Given the description of an element on the screen output the (x, y) to click on. 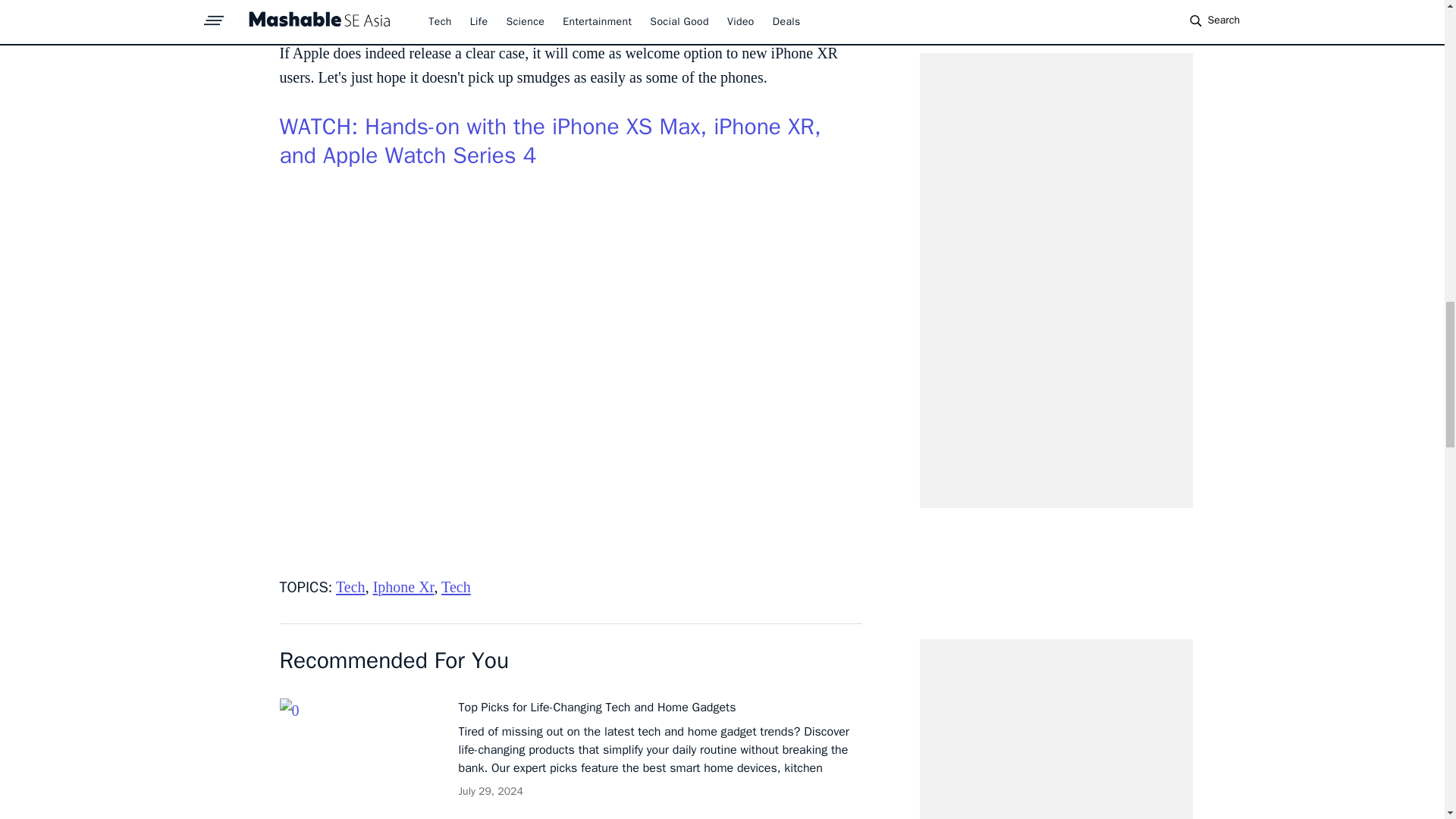
Tech (455, 586)
Iphone Xr (402, 586)
Tech (350, 586)
